Given the description of an element on the screen output the (x, y) to click on. 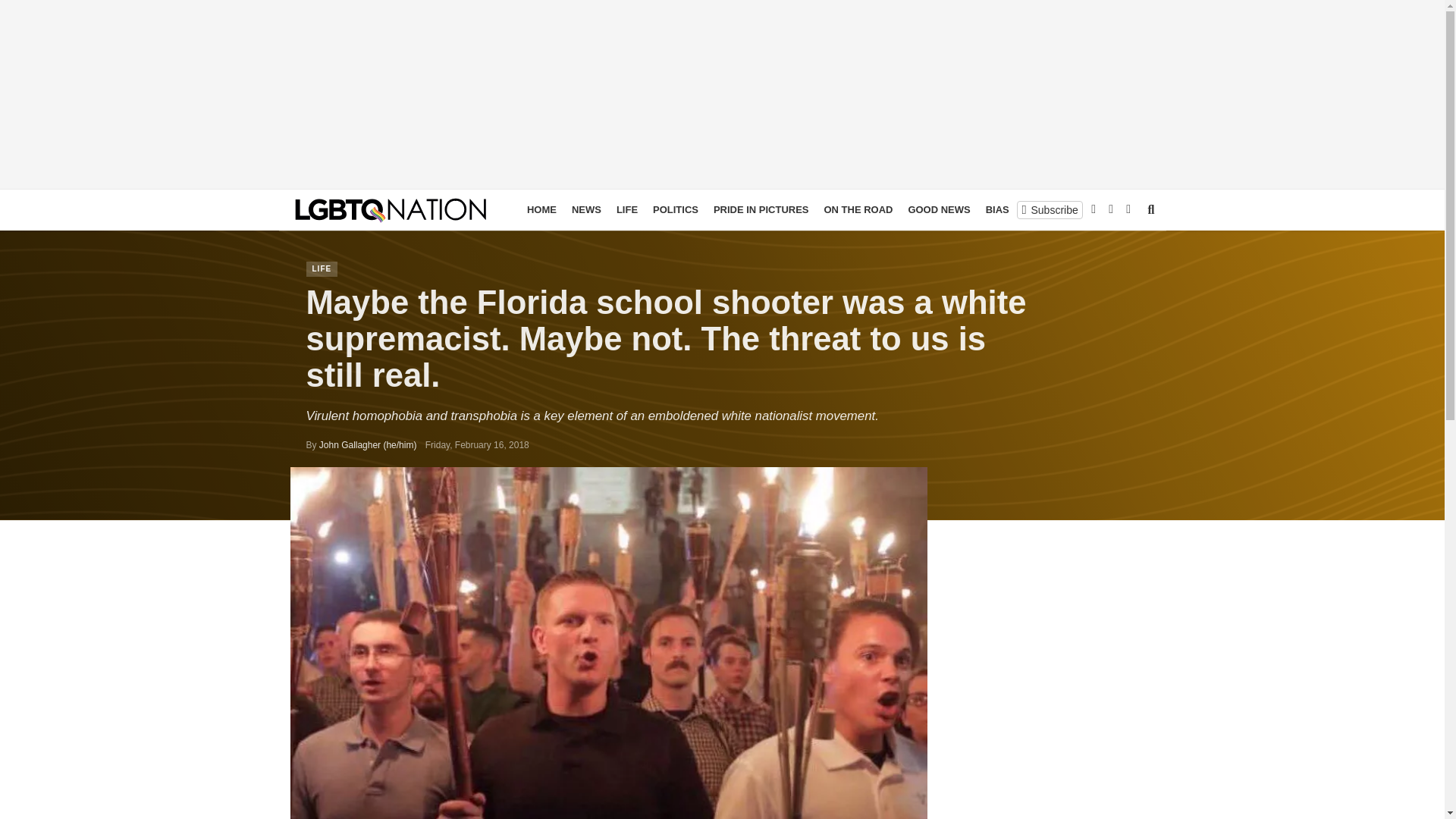
LIFE (626, 209)
Friday, February 16, 2018 pm28 13:04:55 (477, 444)
GOOD NEWS (937, 209)
NEWS (586, 209)
BIAS WATCH (1016, 209)
COMMENTARY (1097, 209)
PRIDE IN PICTURES (761, 209)
POLITICS (675, 209)
HOME (541, 209)
